Given the description of an element on the screen output the (x, y) to click on. 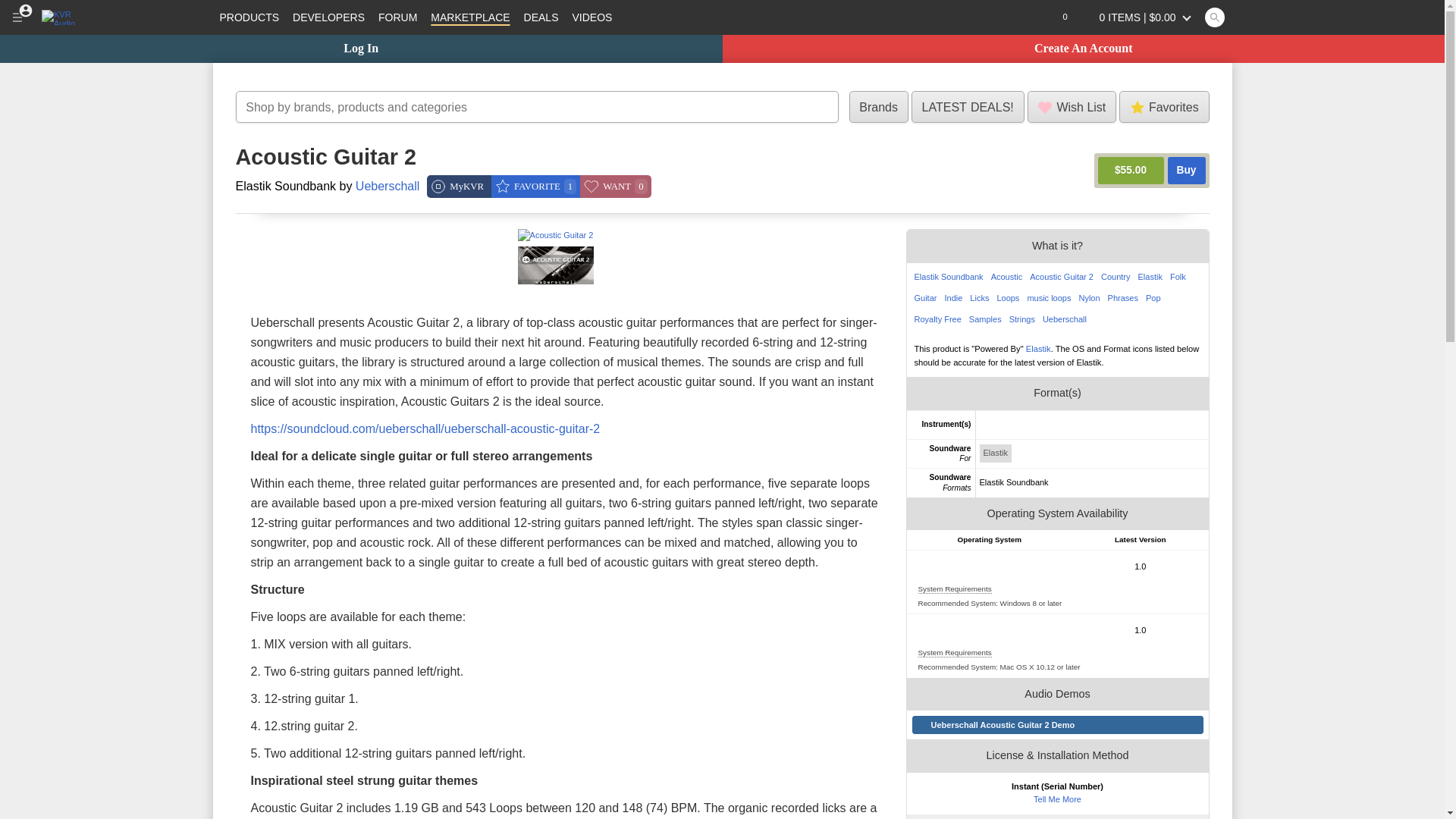
MyKVR Groups (459, 186)
Read reviews and rate and review! (453, 157)
Forum (397, 17)
Favorite (535, 186)
Plugins and Products Database (248, 17)
Cart (1137, 17)
I Want This (614, 186)
Marketplace (469, 17)
